Given the description of an element on the screen output the (x, y) to click on. 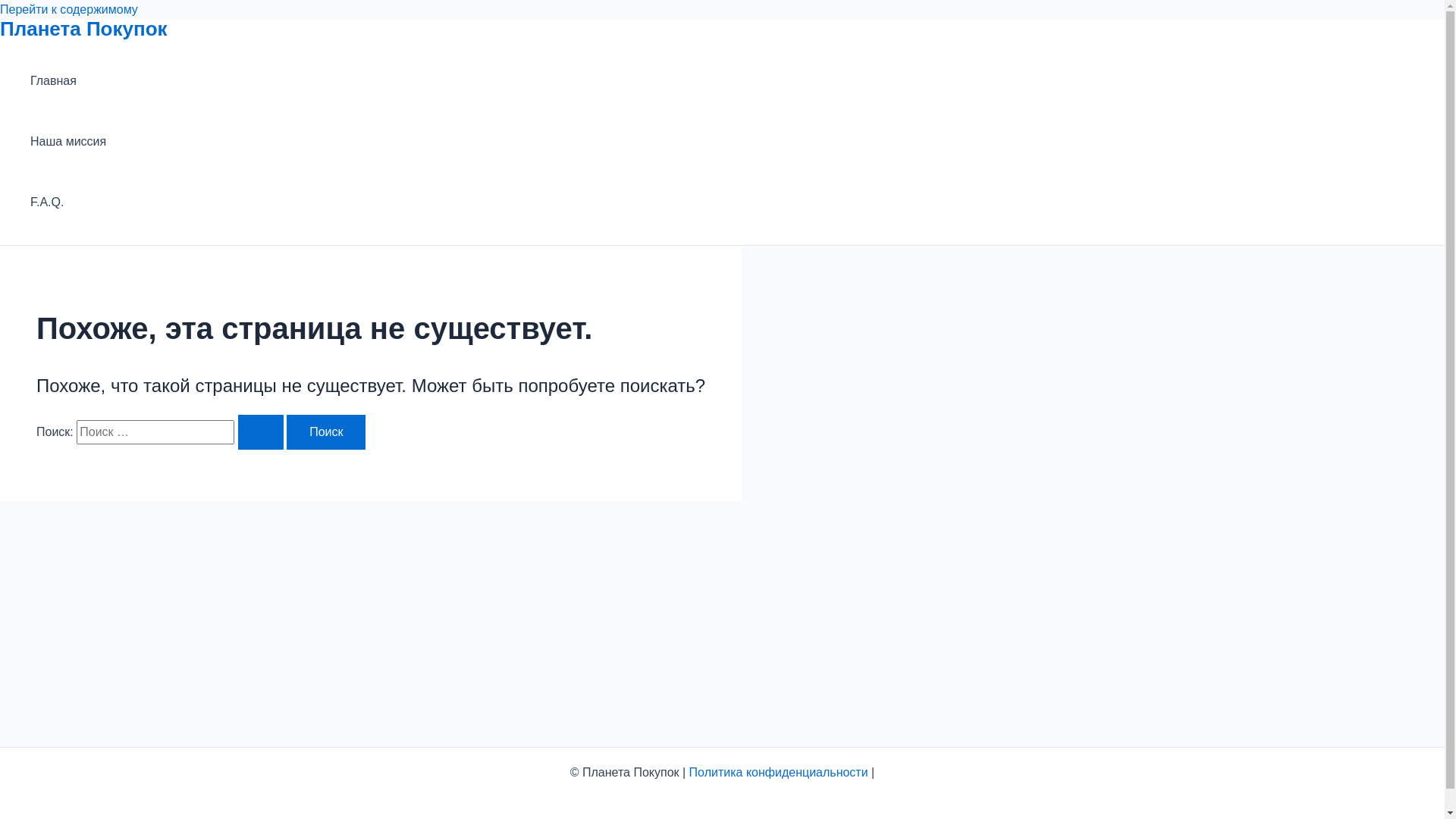
F.A.Q. Element type: text (68, 202)
